Given the description of an element on the screen output the (x, y) to click on. 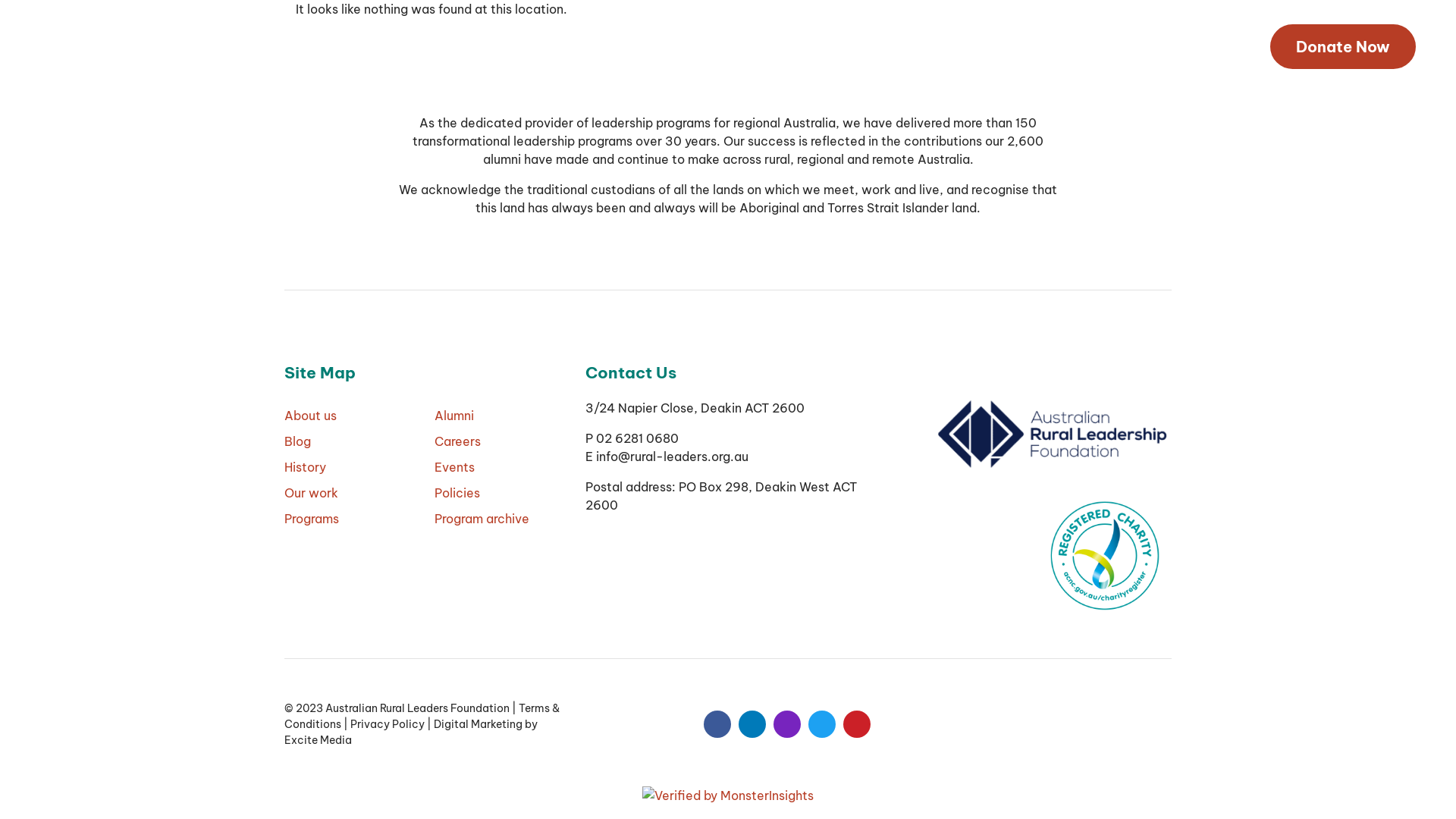
info@rural-leaders.org.au Element type: text (672, 456)
Programs Element type: text (351, 518)
Events Element type: text (501, 467)
History Element type: text (351, 467)
Donate Now Element type: text (1342, 46)
Verified by MonsterInsights Element type: hover (727, 795)
Blog Element type: text (351, 441)
Digital Marketing Element type: text (477, 724)
Programs Element type: text (483, 45)
Program archive Element type: text (501, 518)
02 6281 0680 Element type: text (637, 437)
Terms & Conditions Element type: text (421, 716)
Policies Element type: text (501, 492)
Home Element type: text (258, 45)
Impact Element type: text (371, 45)
Our work Element type: text (351, 492)
Contact Element type: text (554, 45)
About Element type: text (312, 45)
About us Element type: text (351, 415)
Privacy Policy Element type: text (387, 724)
Alumni Element type: text (501, 415)
Blog Element type: text (424, 45)
Careers Element type: text (501, 441)
02 6281 0680 Element type: text (1192, 46)
